Given the description of an element on the screen output the (x, y) to click on. 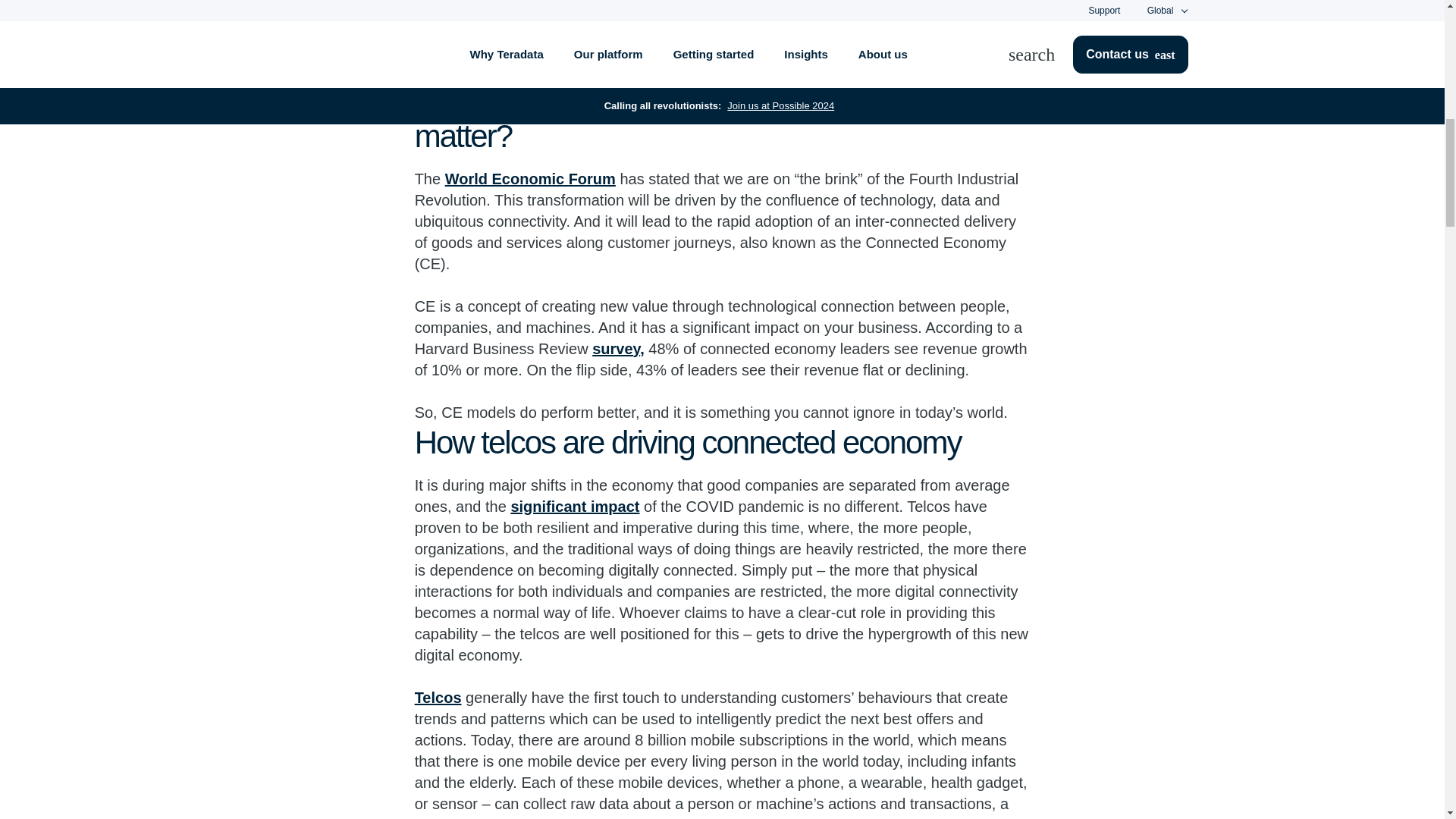
Telcos and Digital Payments Drive the Connected Economy (721, 18)
significant impact (575, 505)
survey, (618, 347)
World Economic Forum (530, 177)
Telcos (437, 696)
